Given the description of an element on the screen output the (x, y) to click on. 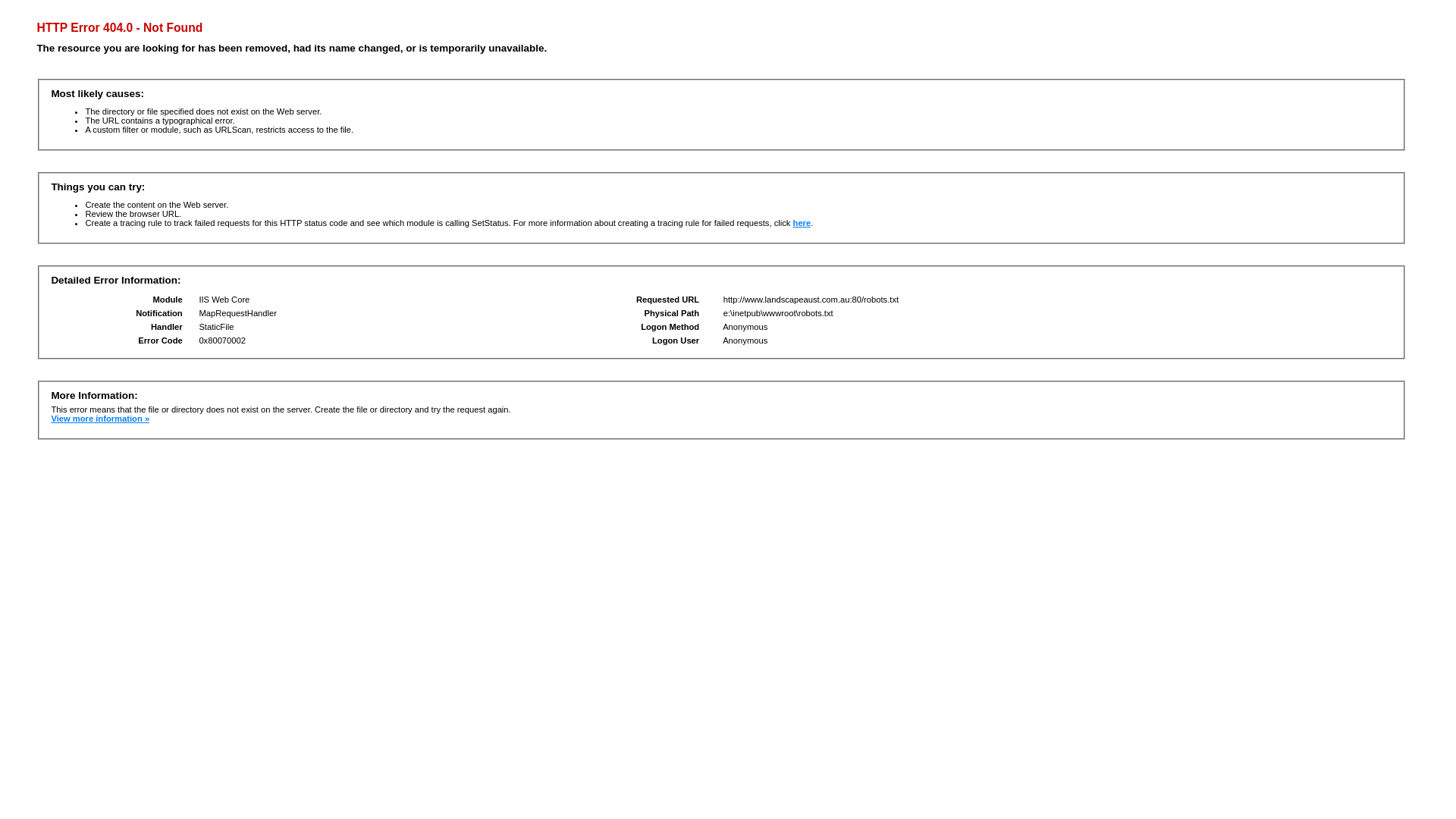
here Element type: text (802, 222)
